Given the description of an element on the screen output the (x, y) to click on. 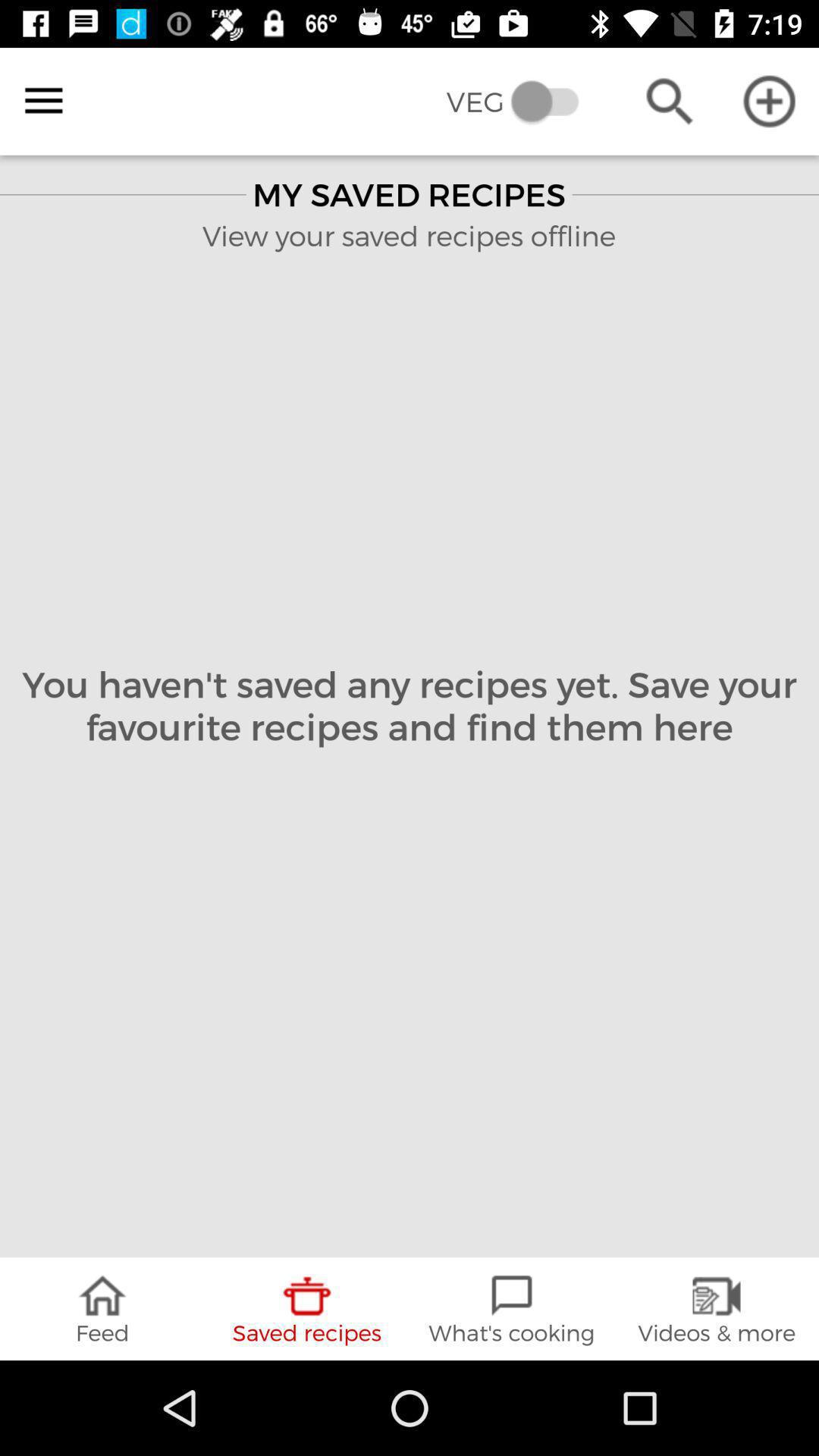
click the item below you haven t item (716, 1308)
